Given the description of an element on the screen output the (x, y) to click on. 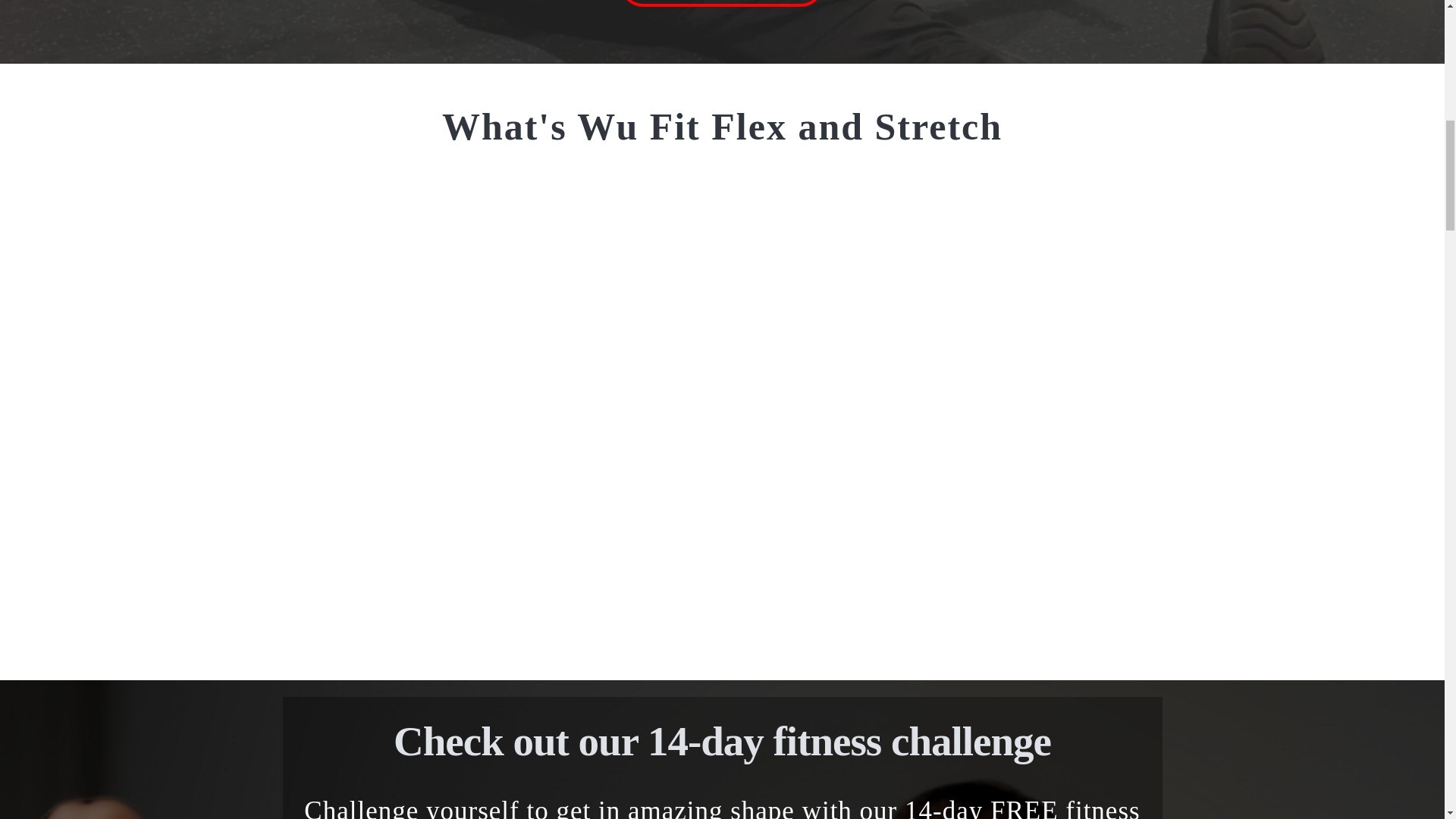
Get Started FREE (722, 3)
